Given the description of an element on the screen output the (x, y) to click on. 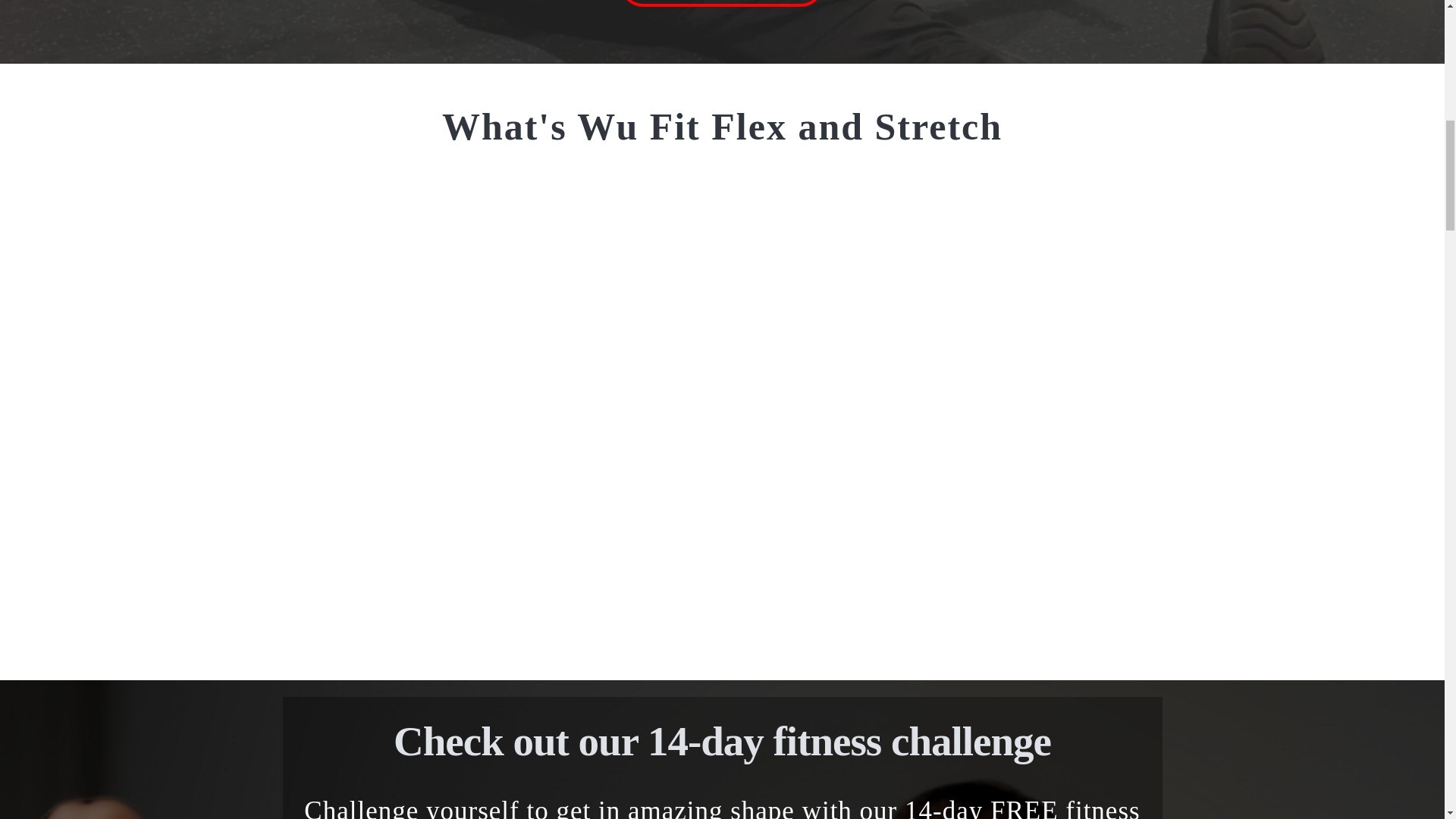
Get Started FREE (722, 3)
